Given the description of an element on the screen output the (x, y) to click on. 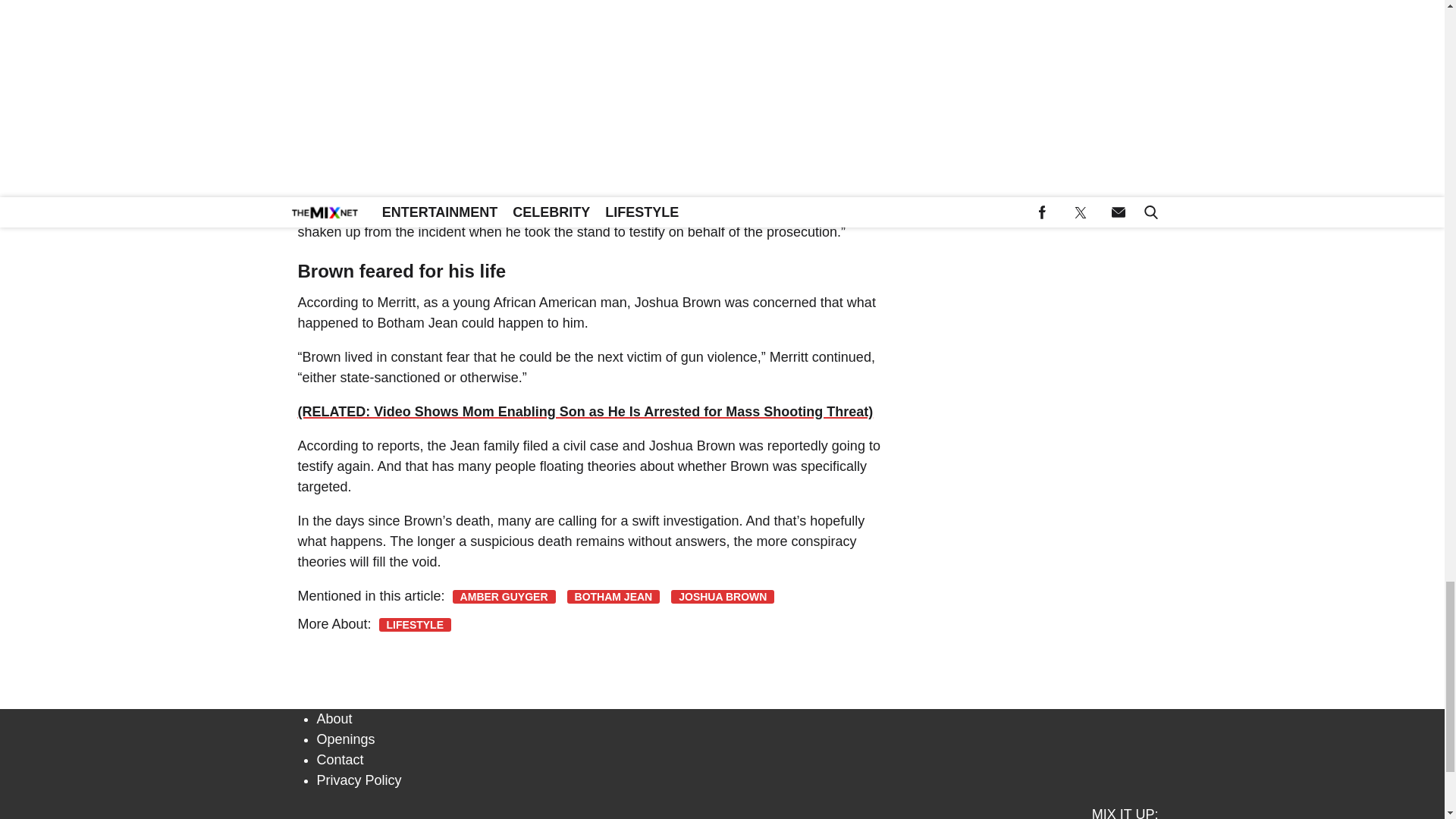
JOSHUA BROWN (722, 596)
LIFESTYLE (414, 624)
said (330, 61)
BOTHAM JEAN (614, 596)
AMBER GUYGER (504, 596)
